Given the description of an element on the screen output the (x, y) to click on. 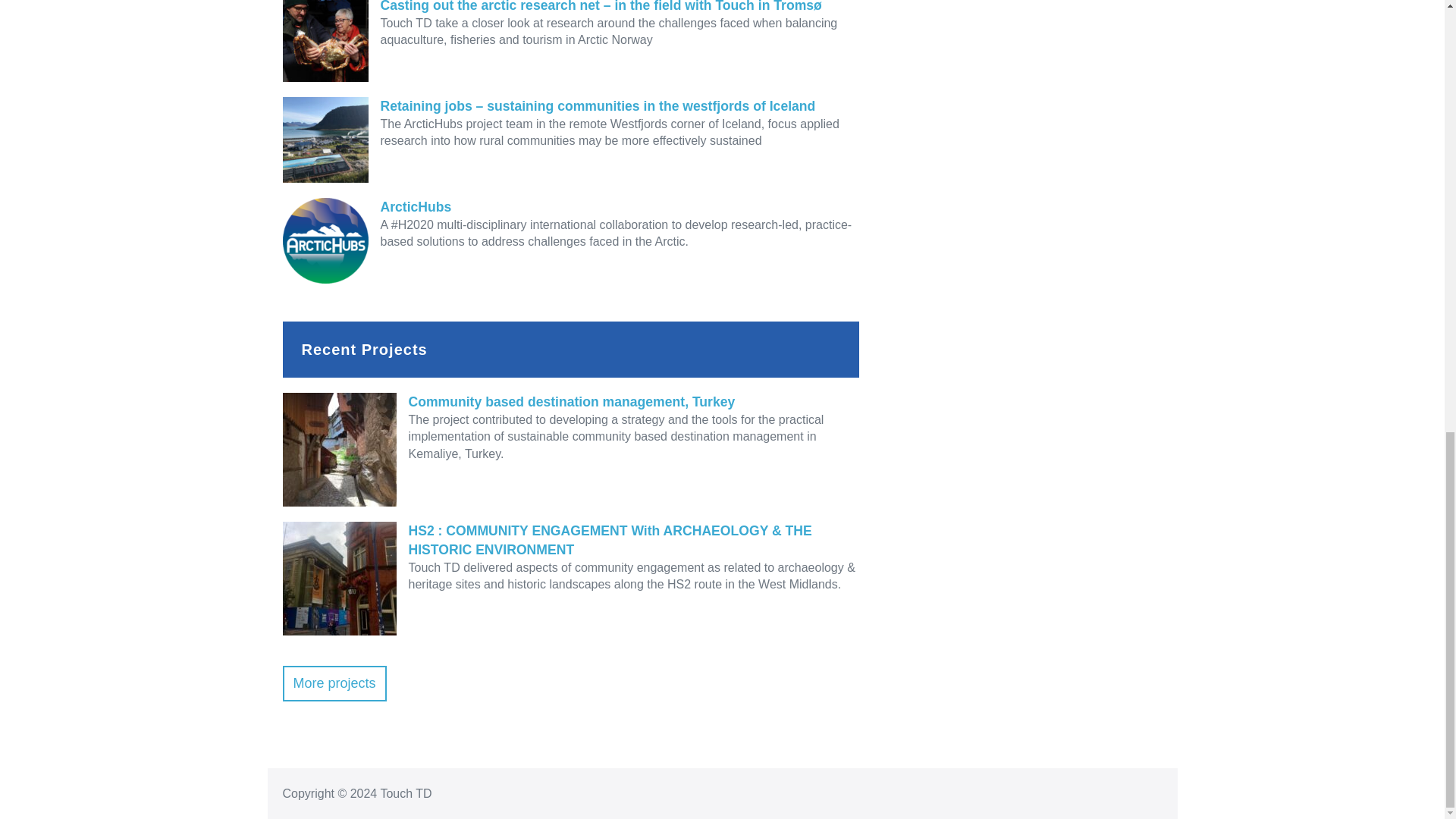
Community based destination management, Turkey (570, 402)
More projects (333, 683)
ArcticHubs (570, 207)
